Given the description of an element on the screen output the (x, y) to click on. 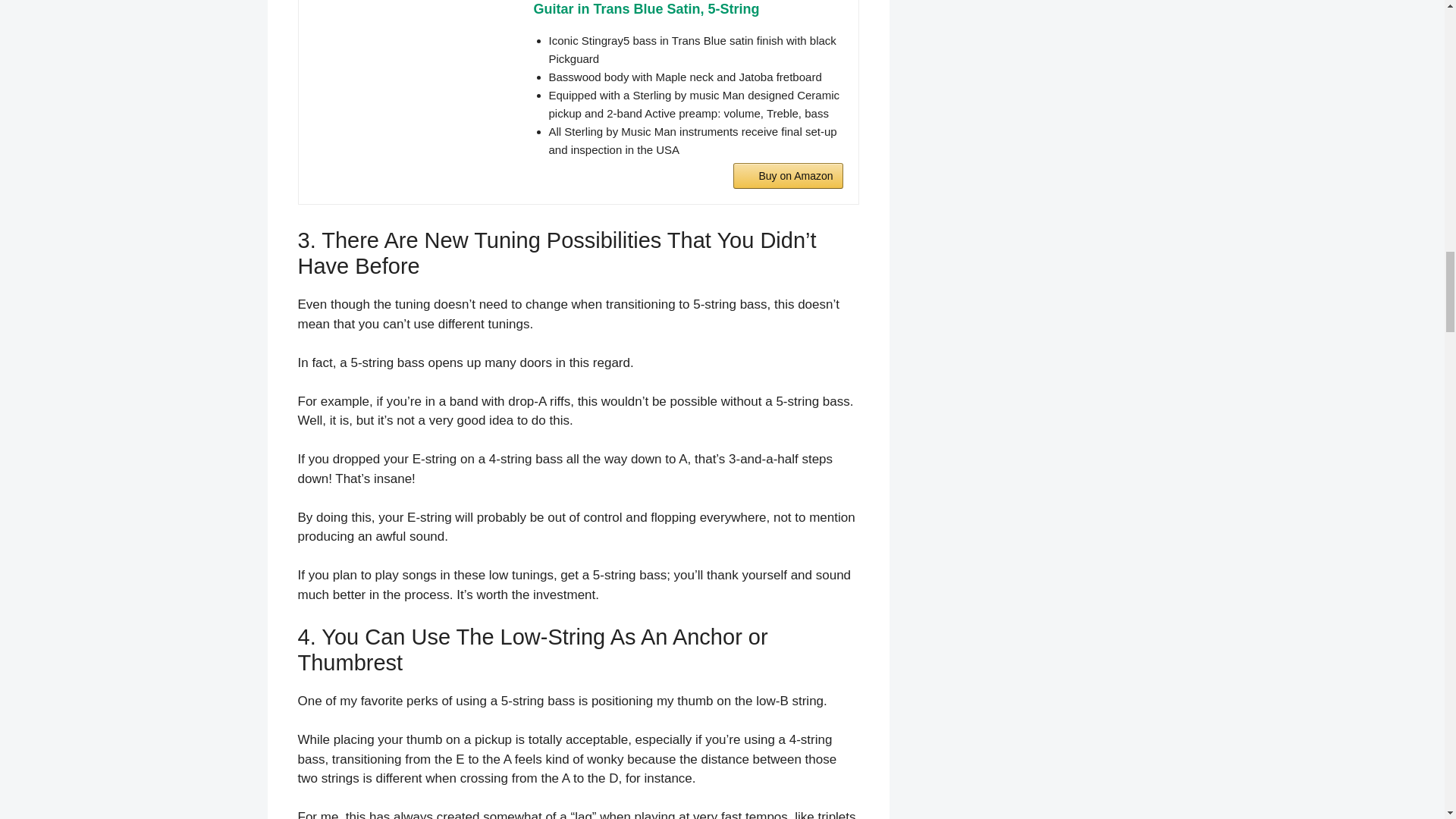
Buy on Amazon (788, 175)
